Given the description of an element on the screen output the (x, y) to click on. 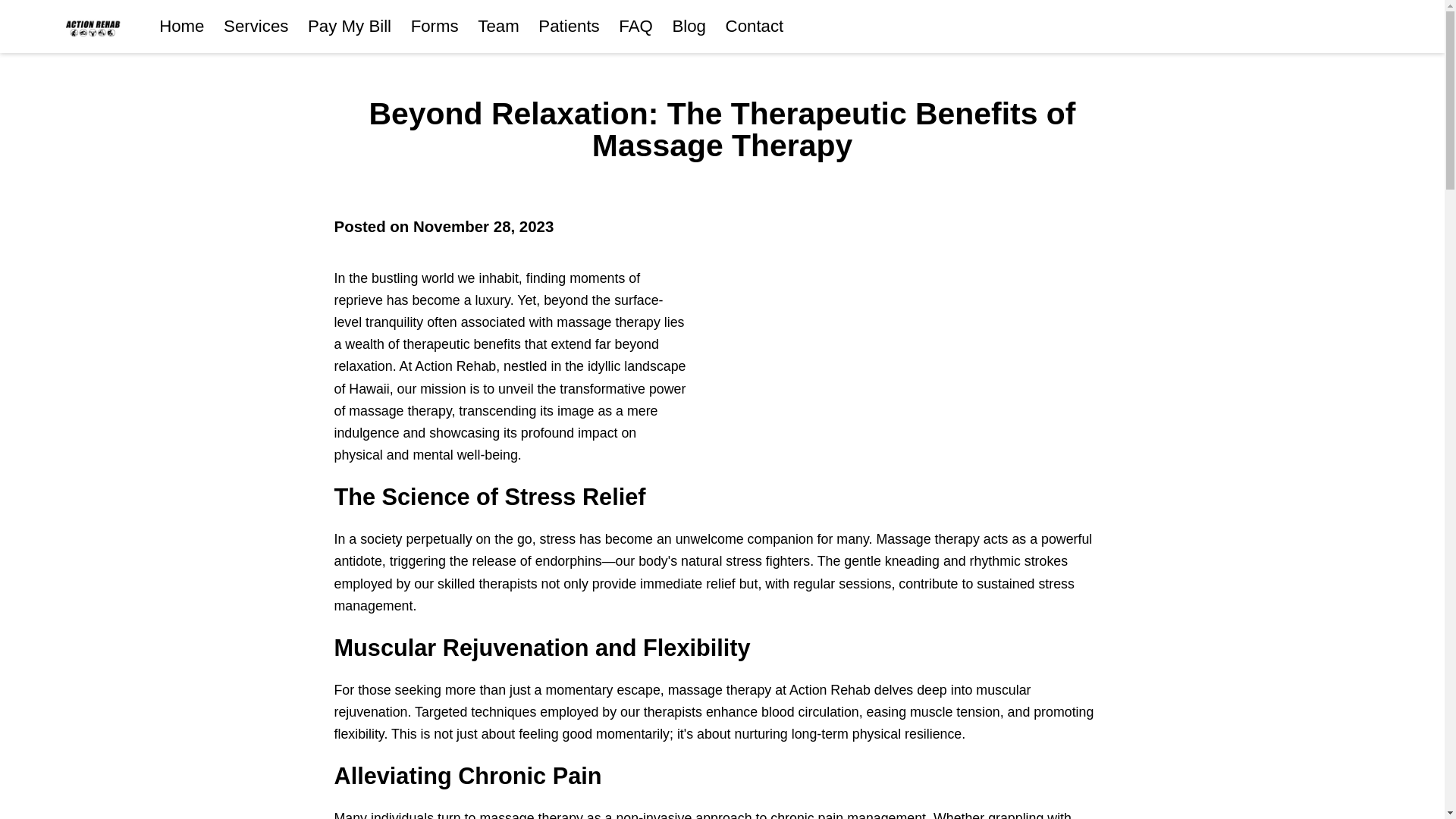
Services (256, 25)
FAQ (635, 25)
Patients (568, 25)
Team (497, 25)
Contact (754, 25)
Home (180, 25)
Blog (688, 25)
Forms (434, 25)
Pay My Bill (349, 25)
